Given the description of an element on the screen output the (x, y) to click on. 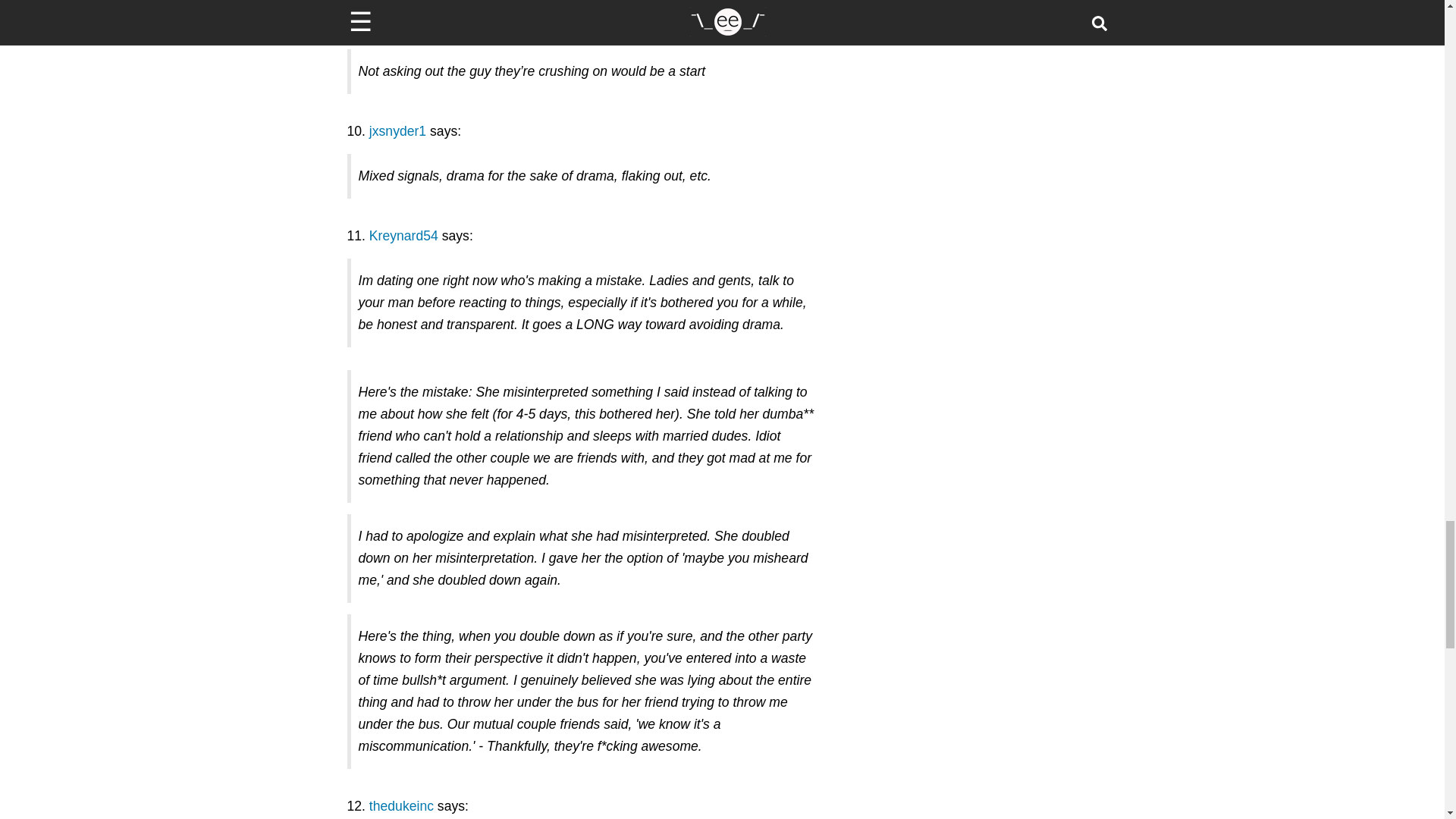
Kreynard54 (403, 235)
Classic-Sea-6034 (414, 26)
thedukeinc (401, 806)
jxsnyder1 (397, 130)
